Given the description of an element on the screen output the (x, y) to click on. 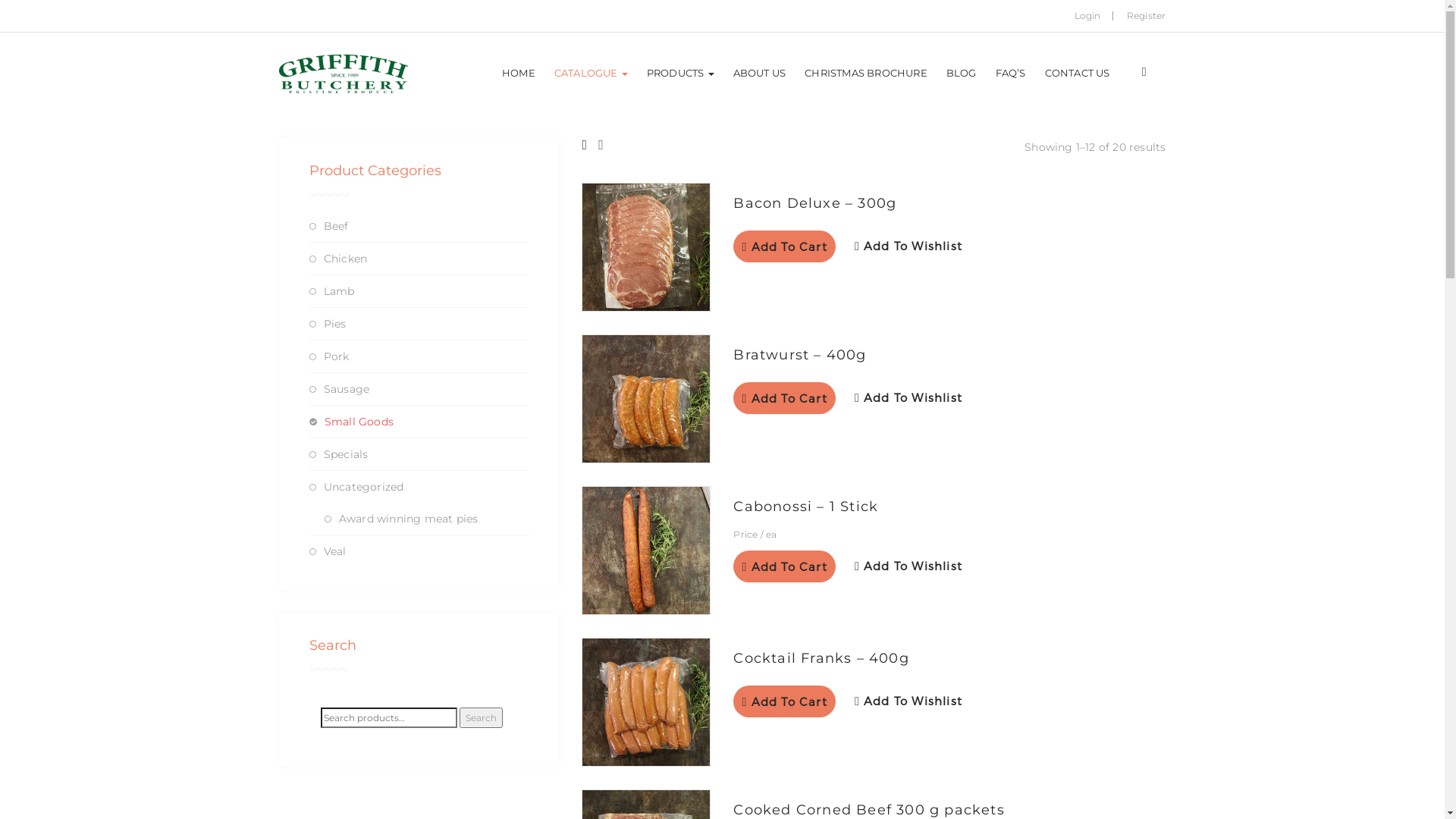
Uncategorized Element type: text (363, 486)
Register Element type: text (1146, 15)
Add To Wishlist Element type: text (908, 398)
Add To Wishlist Element type: text (908, 701)
CHRISTMAS BROCHURE Element type: text (865, 72)
Beef Element type: text (335, 225)
Sausage Element type: text (346, 388)
Add To Wishlist Element type: text (908, 246)
CONTACT US Element type: text (1077, 72)
Add To Cart Element type: text (783, 398)
PRODUCTS Element type: text (680, 72)
Specials Element type: text (345, 454)
Add To Cart Element type: text (783, 566)
BLOG Element type: text (961, 72)
Lamb Element type: text (338, 291)
Veal Element type: text (334, 551)
Cooked Corned Beef 300 g packets Element type: text (868, 809)
Award winning meat pies Element type: text (408, 518)
ABOUT US Element type: text (759, 72)
Add To Wishlist Element type: text (908, 566)
Chicken Element type: text (345, 258)
Add To Cart Element type: text (783, 701)
Pork Element type: text (336, 356)
Add To Cart Element type: text (783, 246)
Search Element type: text (480, 717)
CATALOGUE Element type: text (590, 72)
Login Element type: text (1087, 15)
HOME Element type: text (518, 72)
Small Goods Element type: text (358, 421)
Pies Element type: text (334, 323)
